Given the description of an element on the screen output the (x, y) to click on. 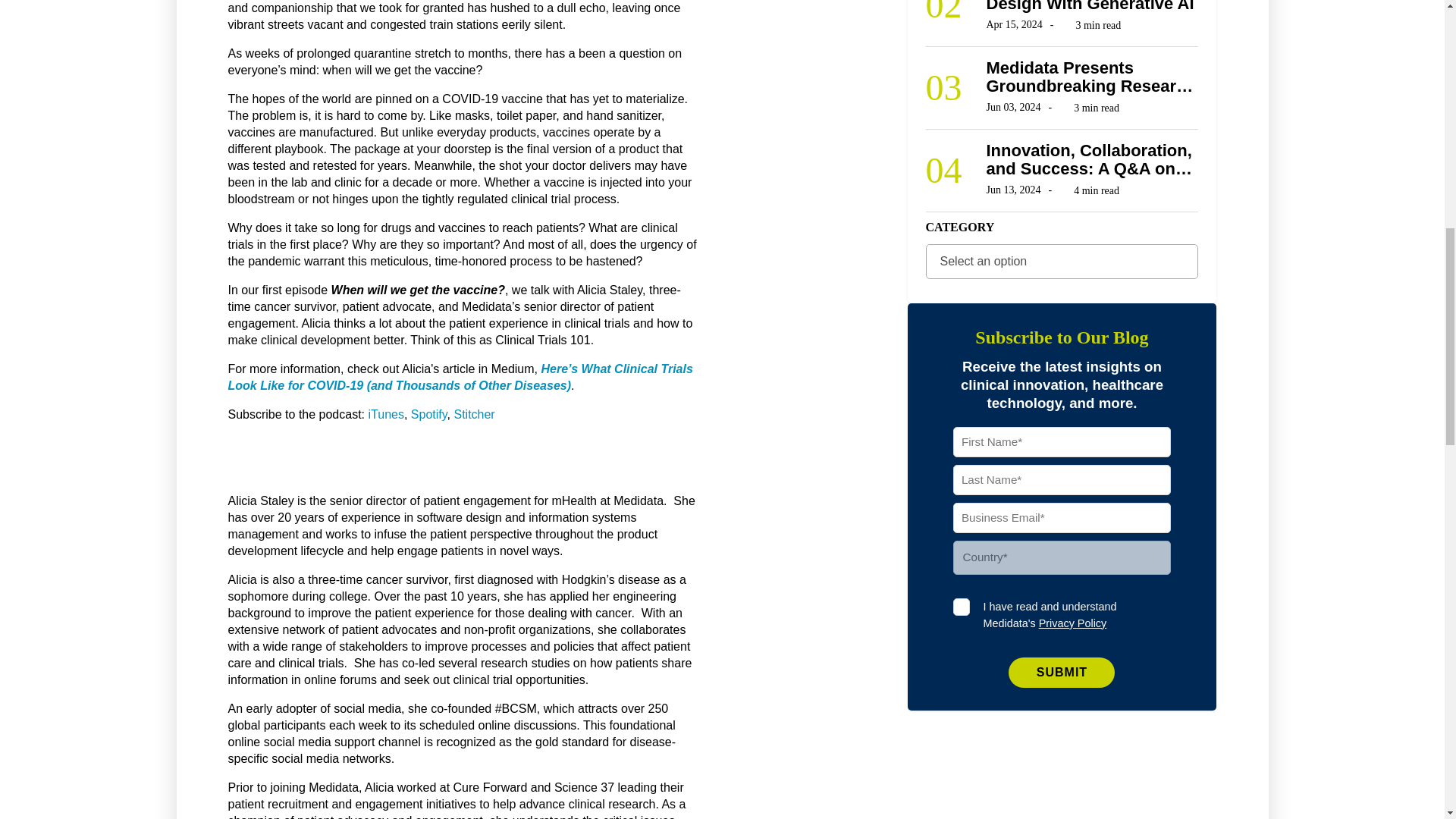
Submit (1062, 672)
Improving Protocol Design With Generative AI (1091, 6)
